Given the description of an element on the screen output the (x, y) to click on. 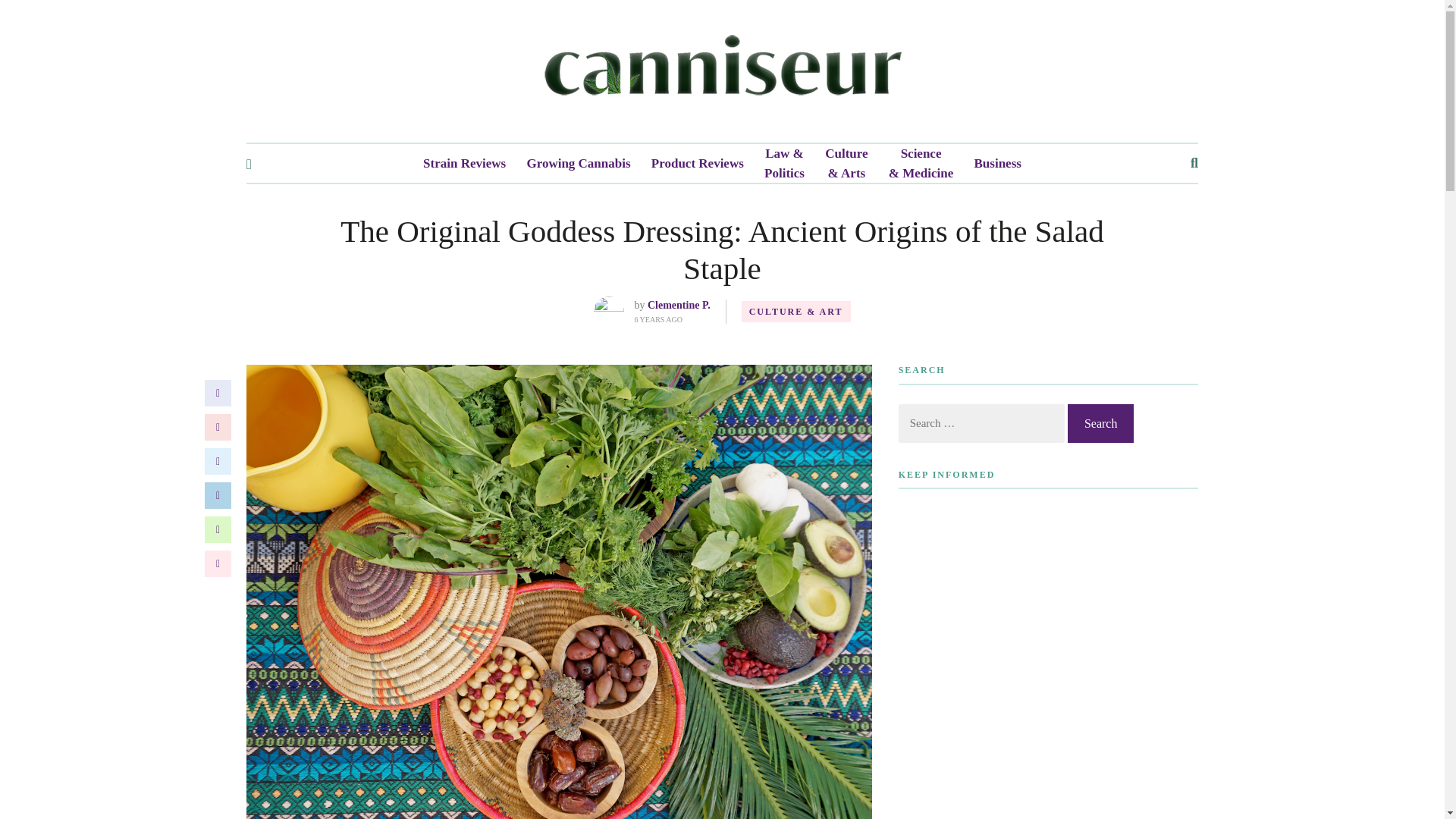
Strain Reviews (464, 163)
Search (1100, 423)
Clementine P. (678, 305)
Product Reviews (697, 163)
Search (1100, 423)
Canniseur (721, 71)
Business (998, 163)
Growing Cannabis (577, 163)
Search (1100, 423)
